Given the description of an element on the screen output the (x, y) to click on. 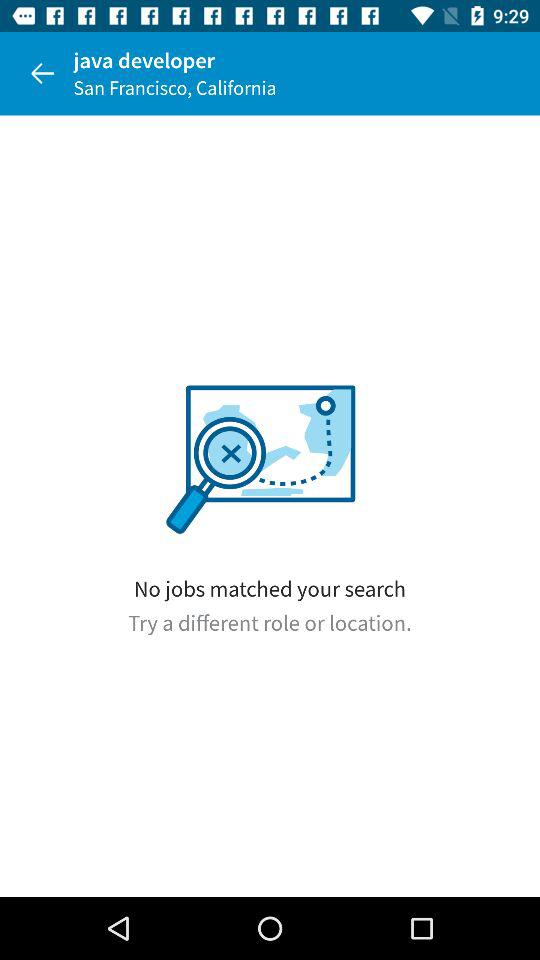
choose the item next to java developer icon (41, 73)
